Given the description of an element on the screen output the (x, y) to click on. 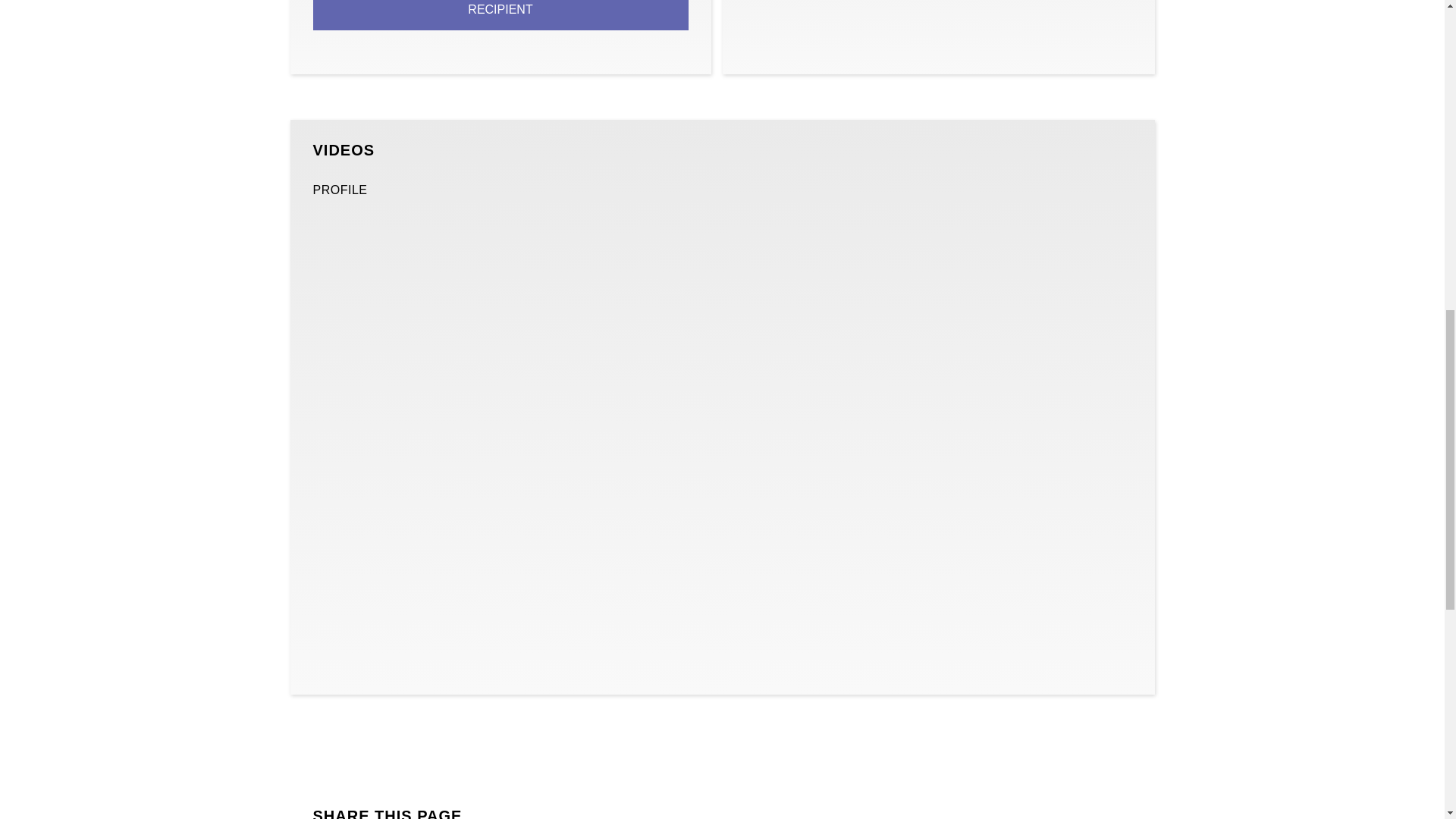
Vancouver (937, 25)
